Given the description of an element on the screen output the (x, y) to click on. 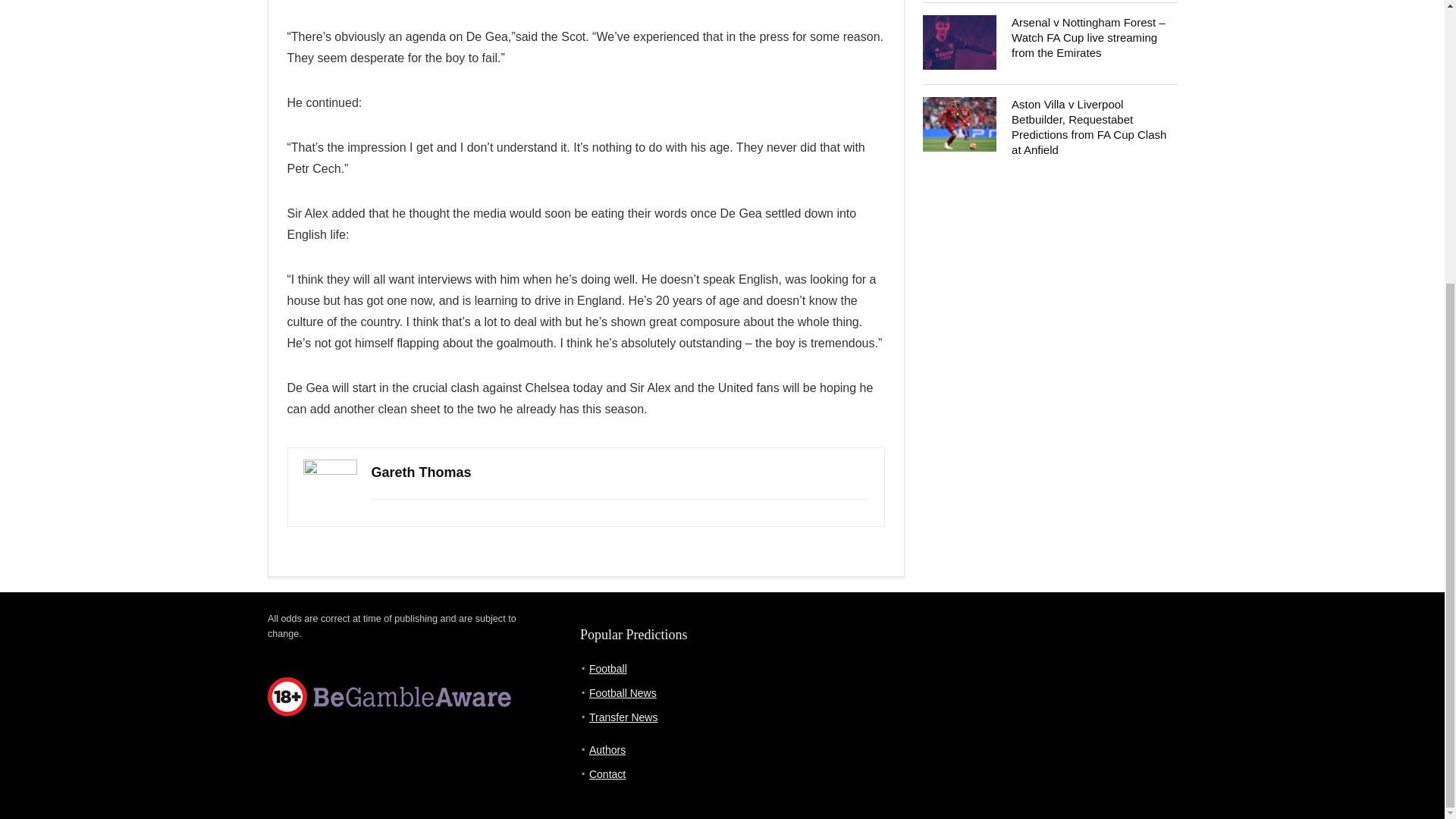
Posts by Gareth Thomas (421, 472)
